Given the description of an element on the screen output the (x, y) to click on. 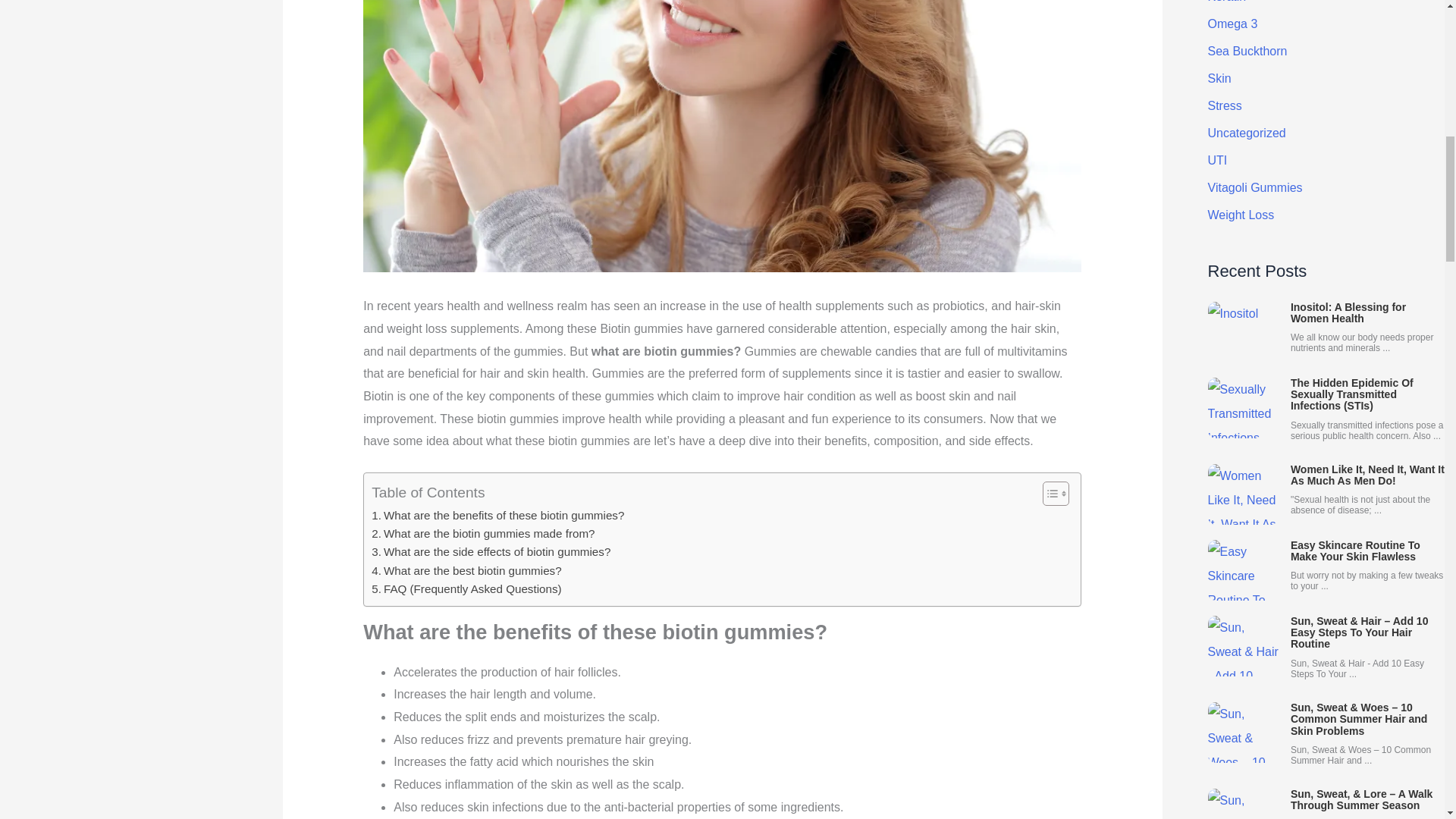
What are the side effects of biotin gummies? (490, 551)
What are the benefits of these biotin gummies? (497, 515)
What are the benefits of these biotin gummies? (497, 515)
What are the biotin gummies made from? (482, 533)
What are the biotin gummies made from? (482, 533)
What are the side effects of biotin gummies? (490, 551)
What are the best biotin gummies? (465, 570)
What are the best biotin gummies? (465, 570)
